Given the description of an element on the screen output the (x, y) to click on. 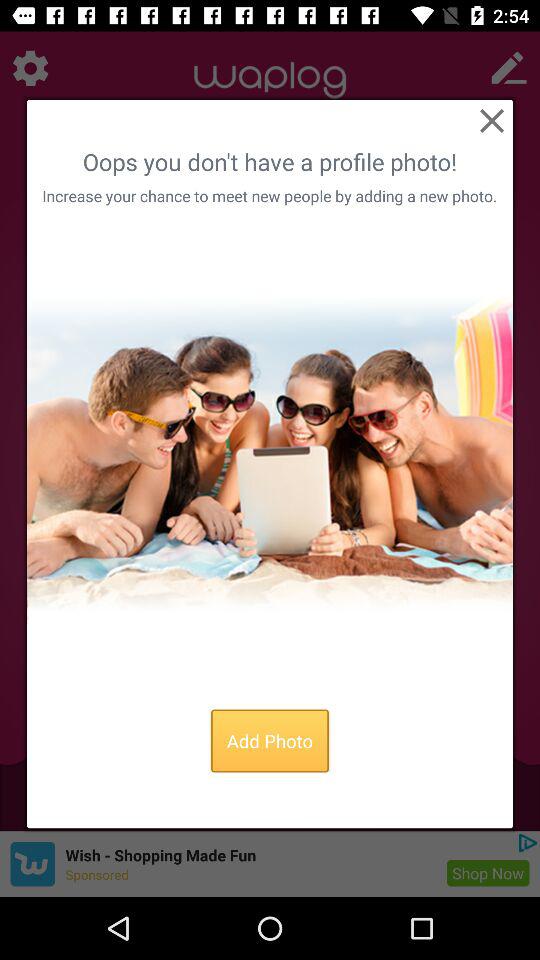
scroll until increase your chance icon (269, 195)
